Given the description of an element on the screen output the (x, y) to click on. 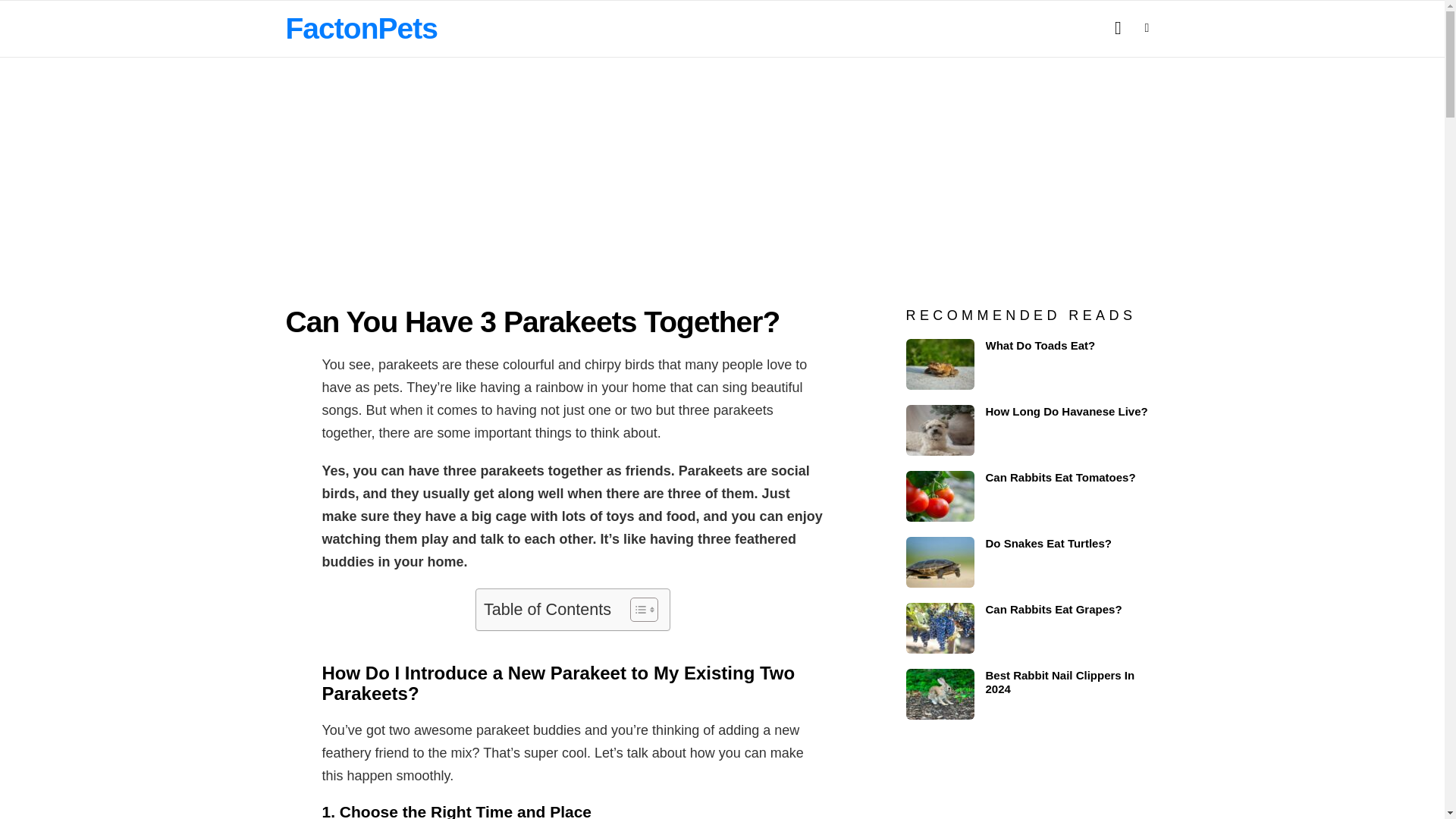
FactonPets (360, 28)
Menu (1146, 27)
